Given the description of an element on the screen output the (x, y) to click on. 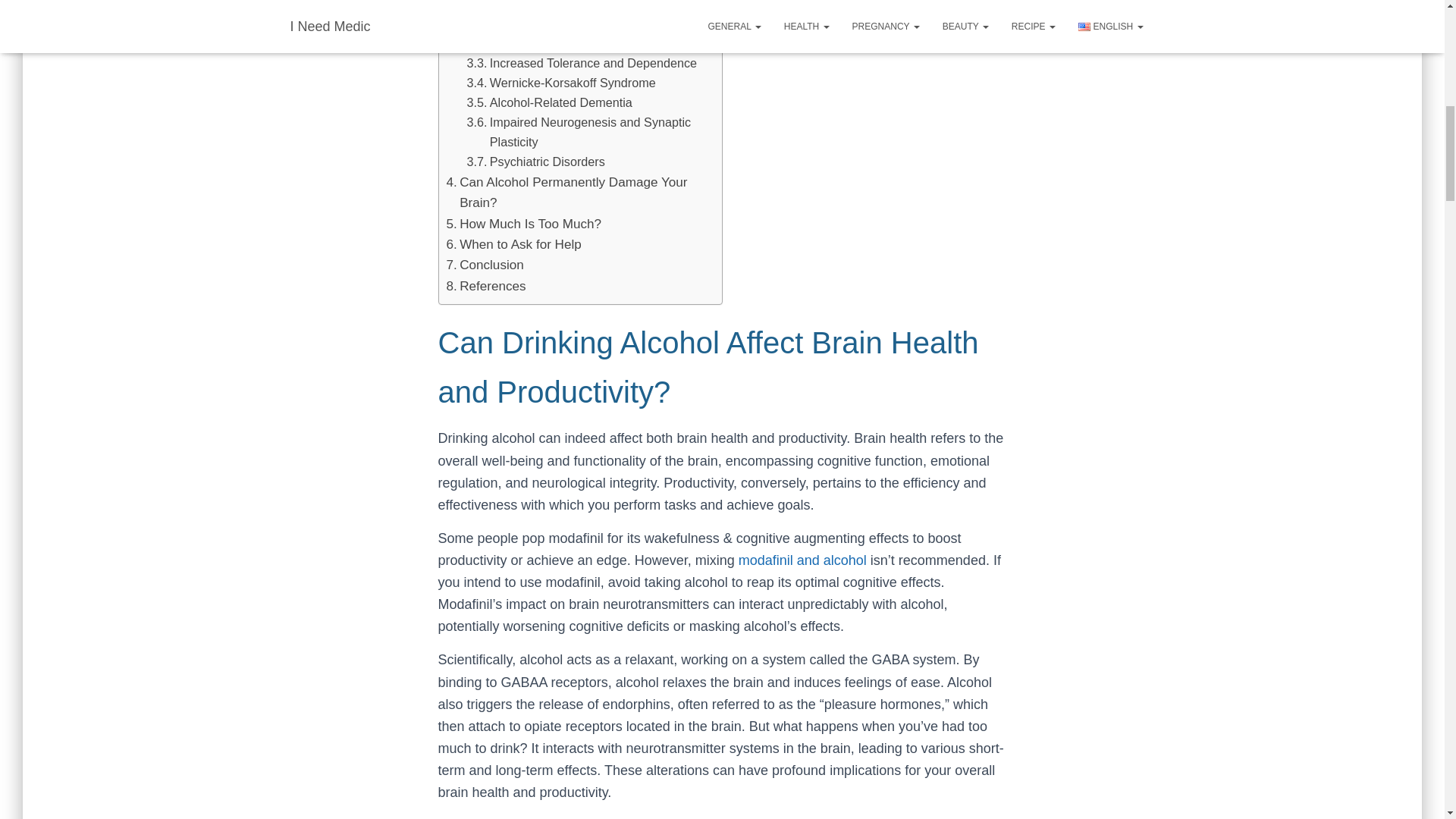
Alcohol-Related Dementia (549, 103)
Impaired Neurogenesis and Synaptic Plasticity (586, 132)
Brain Tissue Damage (537, 44)
Wernicke-Korsakoff Syndrome (561, 83)
Shrink the Brain Regions (546, 25)
Increased Tolerance and Dependence (582, 63)
Long-Term Effects of Alcohol on the Brain (571, 7)
